Given the description of an element on the screen output the (x, y) to click on. 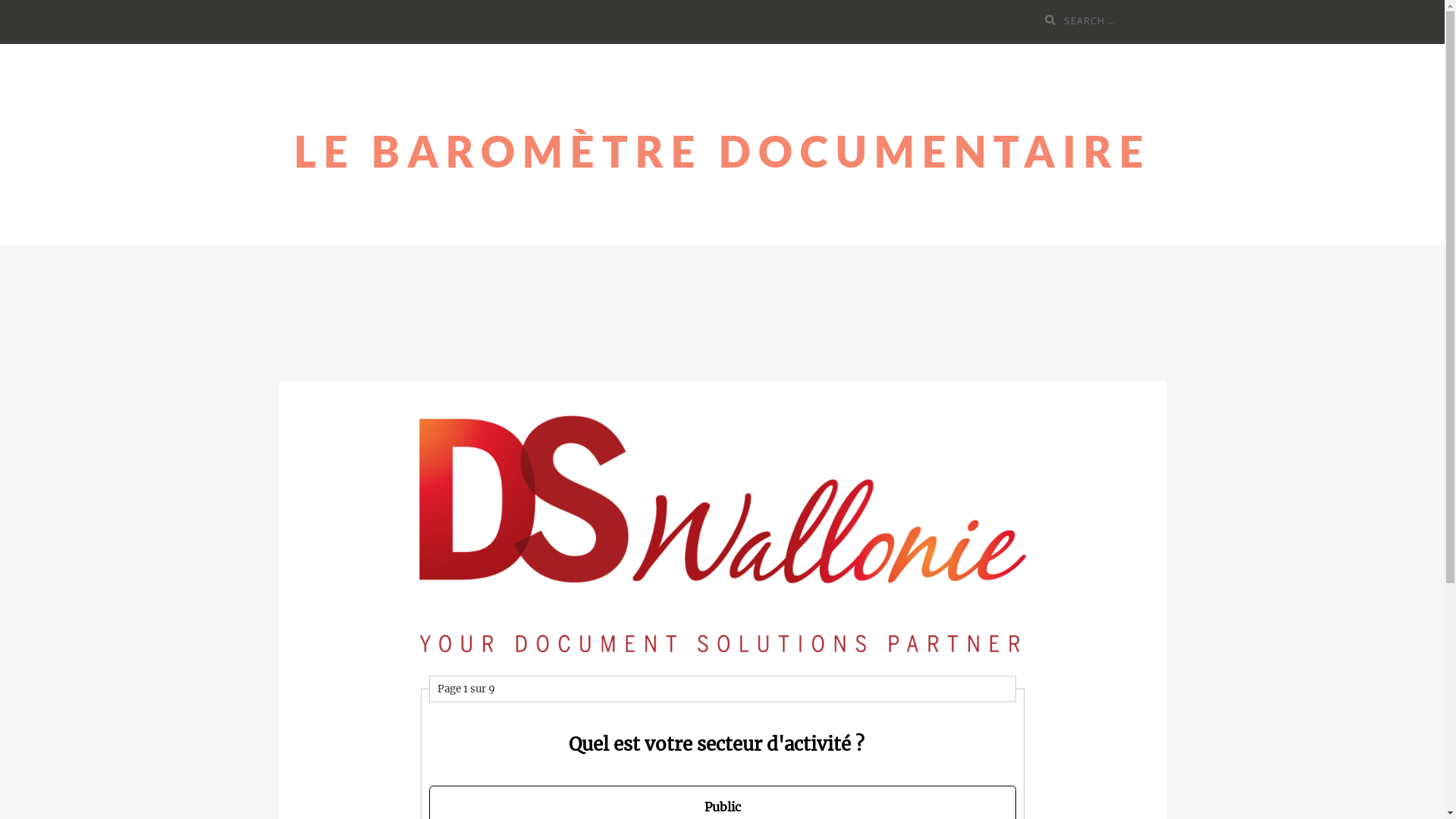
Skip to content Element type: text (0, 43)
Search Element type: text (1052, 20)
